Given the description of an element on the screen output the (x, y) to click on. 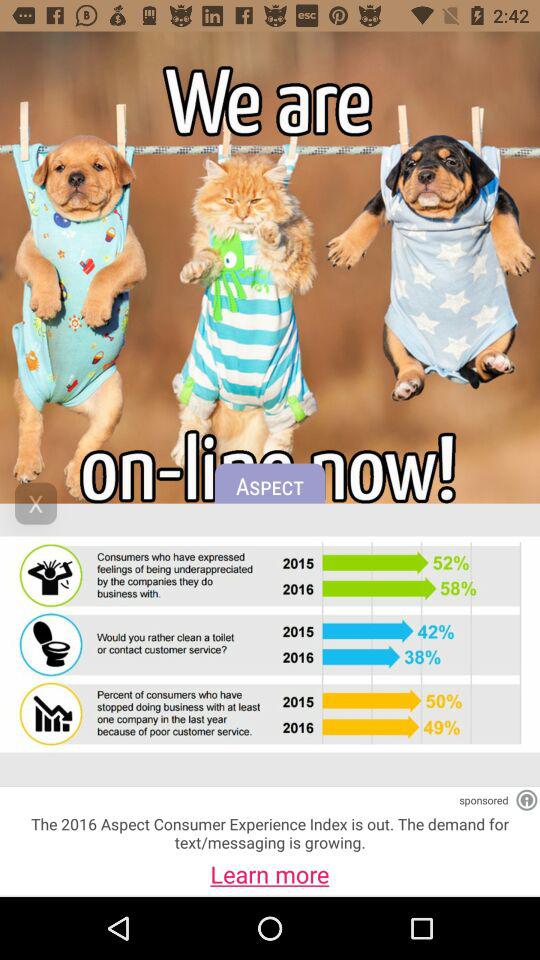
click on tab name aspect (269, 493)
go to text above learn more (269, 833)
